Given the description of an element on the screen output the (x, y) to click on. 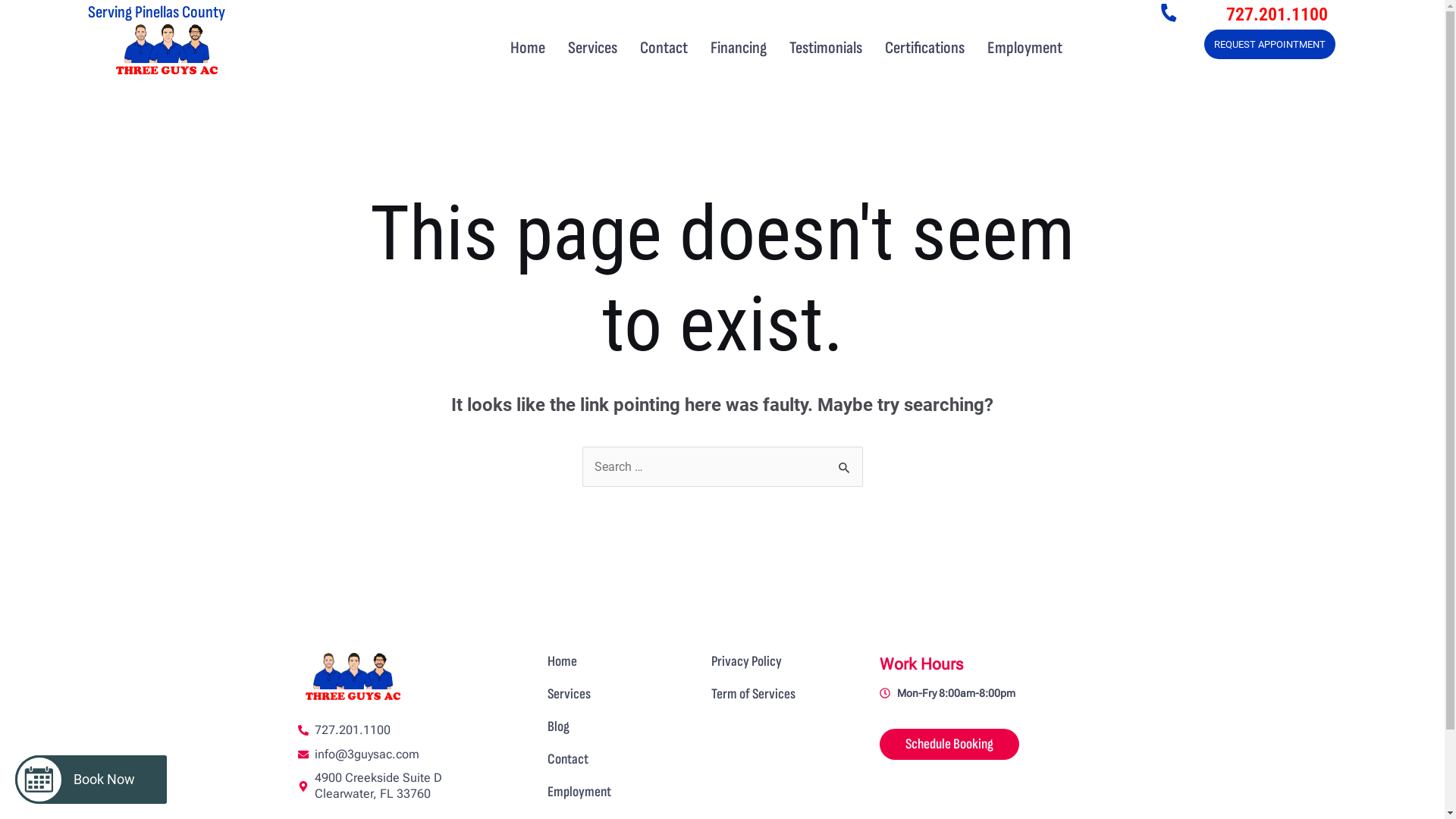
Certifications Element type: text (924, 48)
Testimonials Element type: text (825, 48)
Privacy Policy Element type: text (746, 661)
Services Element type: text (568, 693)
Term of Services Element type: text (753, 693)
Financing Element type: text (738, 48)
727.201.1100 Element type: text (1276, 14)
Schedule Booking Element type: text (949, 743)
REQUEST APPOINTMENT Element type: text (1269, 44)
Home Element type: text (527, 48)
Blog Element type: text (558, 726)
Contact Element type: text (663, 48)
727.201.1100 Element type: text (412, 730)
Contact Element type: text (567, 759)
Employment Element type: text (579, 791)
Employment Element type: text (1024, 48)
Services Element type: text (592, 48)
Home Element type: text (562, 661)
Search Element type: text (845, 462)
